Given the description of an element on the screen output the (x, y) to click on. 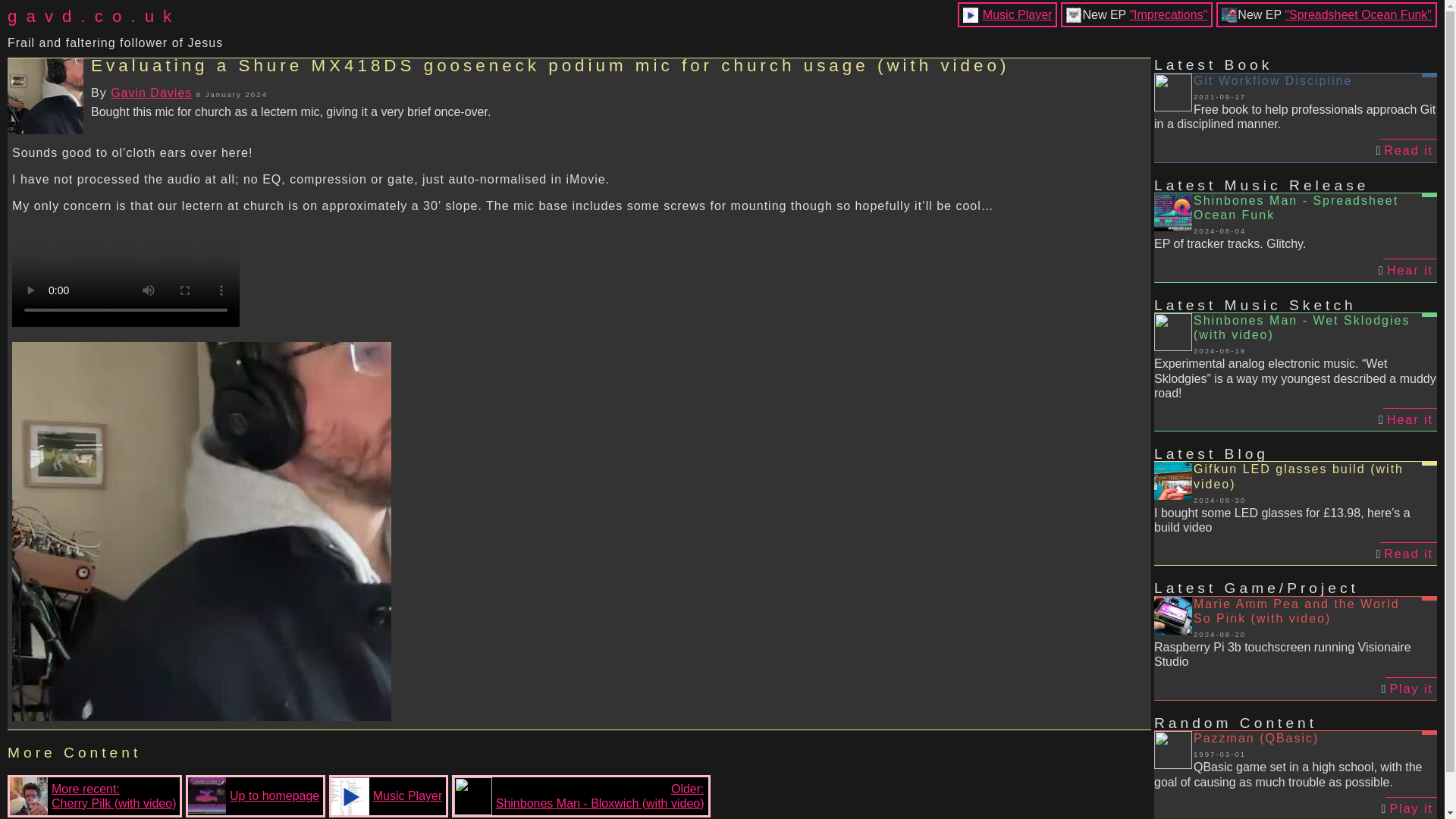
All the music in the site, on one page (386, 795)
"Imprecations" (1168, 14)
gavd.co.uk (114, 16)
Music Player (386, 795)
Player for all the music on the site (1017, 14)
Up to homepage (252, 795)
Shinbones Man EP released August 2024 (1357, 14)
Read it (1408, 553)
Music Player (1017, 14)
Hear it (1410, 269)
